Given the description of an element on the screen output the (x, y) to click on. 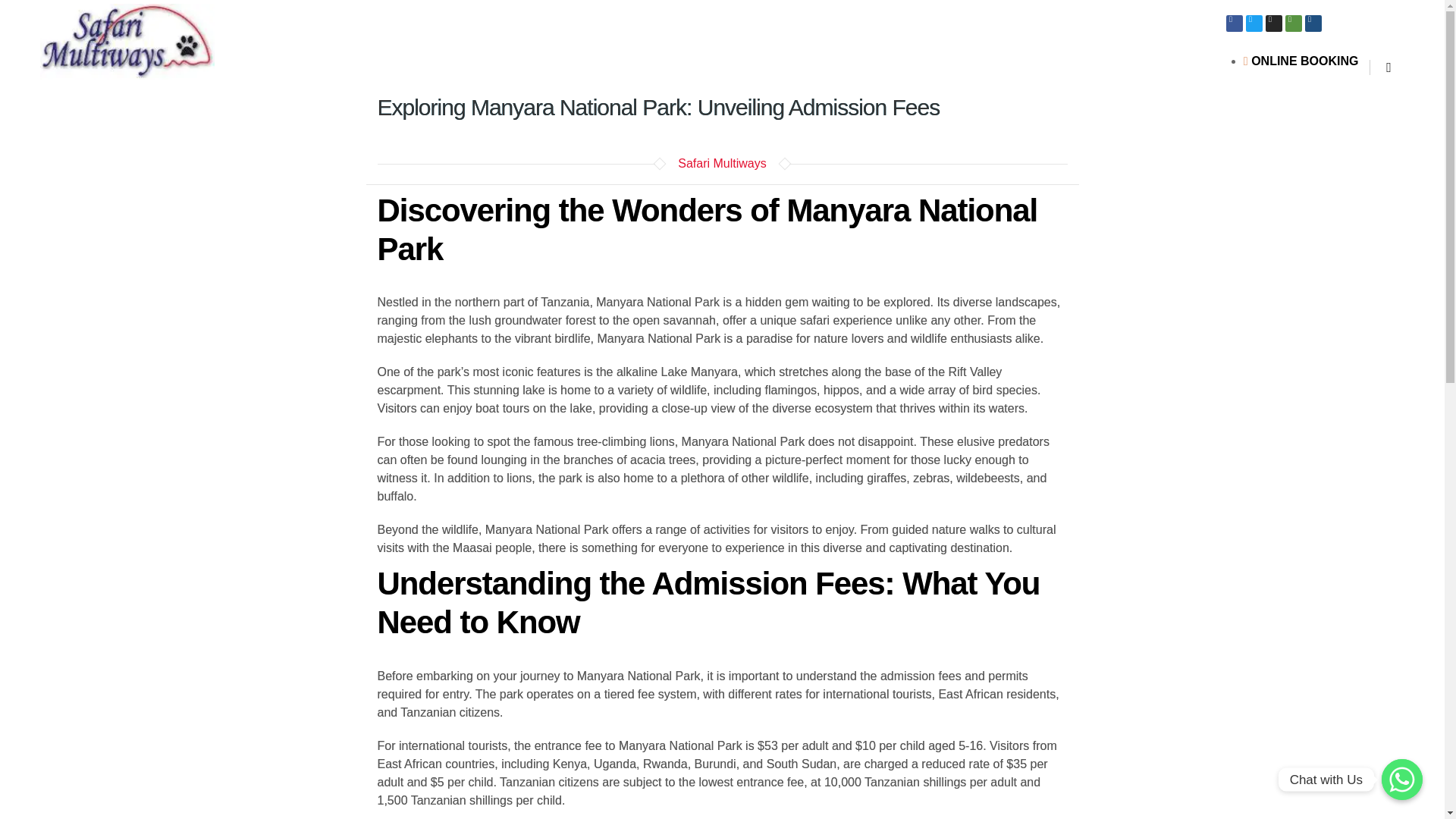
ONLINE BOOKING (1300, 60)
Safari Multiways (721, 163)
